Given the description of an element on the screen output the (x, y) to click on. 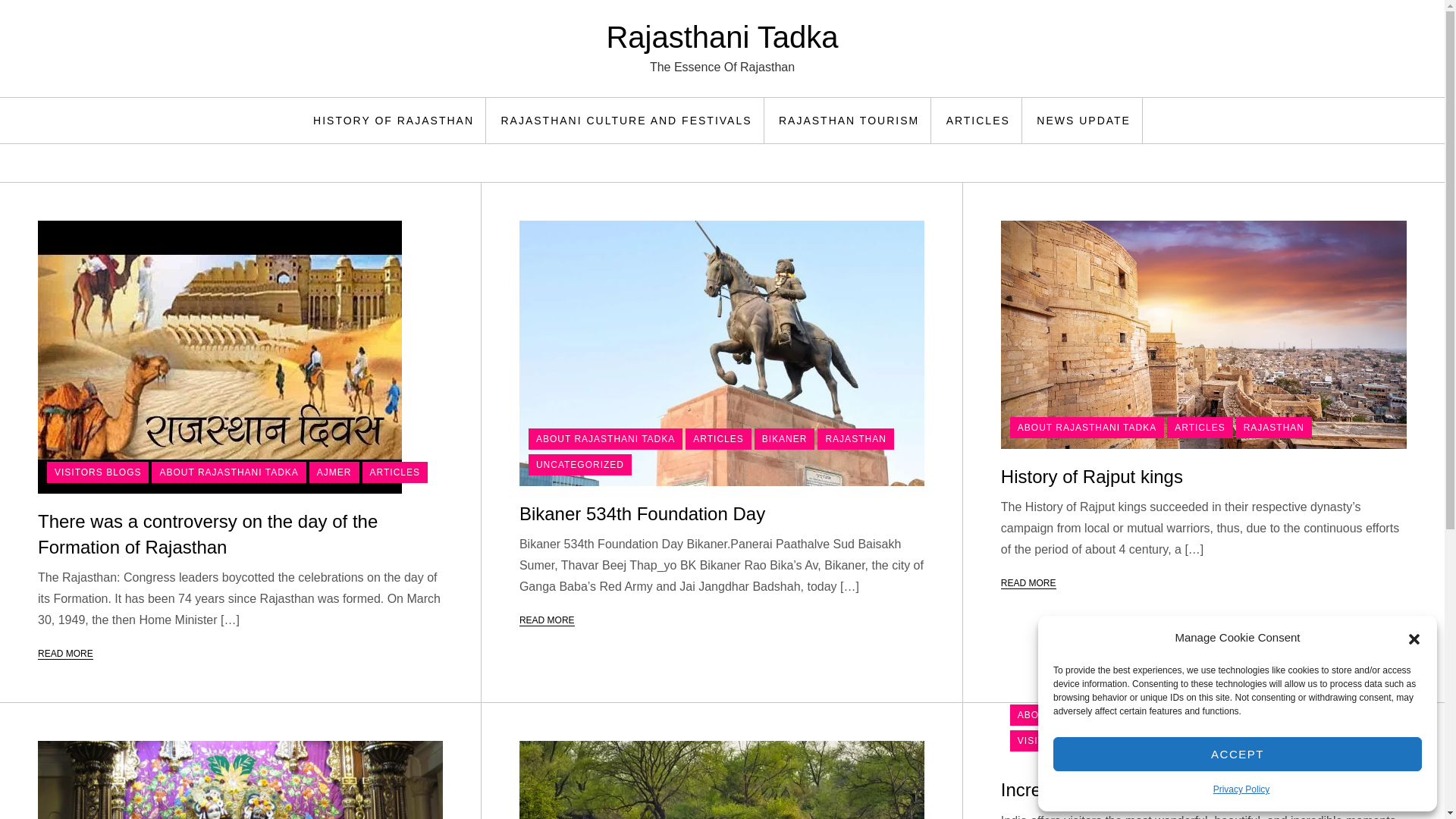
NEWS UPDATE (1083, 120)
READ MORE (547, 620)
AJMER (333, 472)
RAJASTHAN TOURISM (849, 120)
RAJASTHANI CULTURE AND FESTIVALS (625, 120)
ARTICLES (718, 438)
BIKANER (784, 438)
ARTICLES (395, 472)
ABOUT RAJASTHANI TADKA (1086, 427)
ARTICLES (1199, 427)
RAJASTHAN (854, 438)
Rajasthani Tadka (721, 37)
History of Rajput kings (1091, 476)
Bikaner 534th Foundation Day (642, 513)
